Given the description of an element on the screen output the (x, y) to click on. 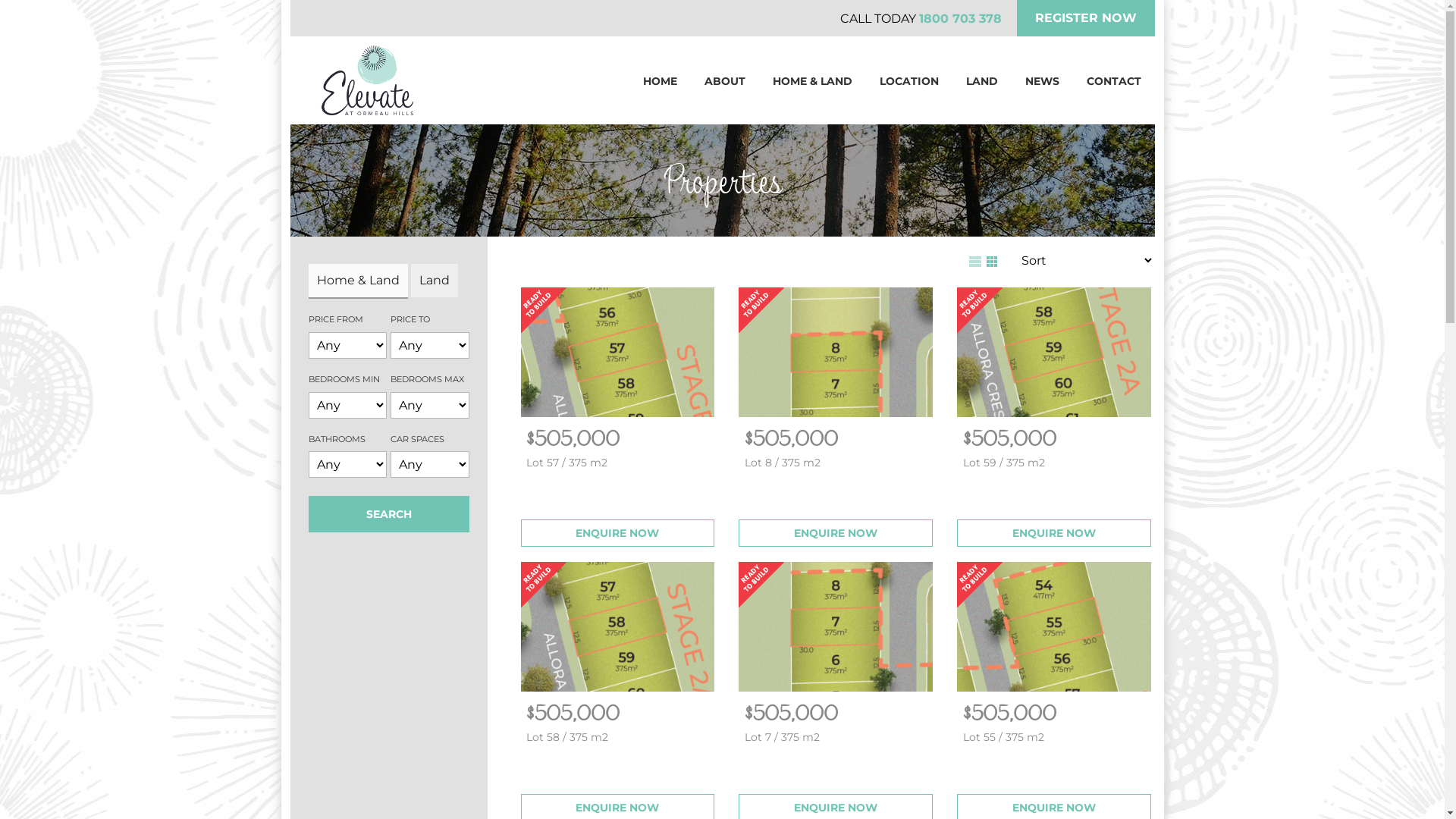
Lot 55 / 375 m2 Element type: text (1054, 741)
ENQUIRE NOW Element type: text (617, 532)
Lot 8 / 375 m2 Element type: text (836, 466)
$505,000 Element type: text (572, 438)
LAND Element type: text (981, 80)
$505,000 Element type: text (790, 712)
$505,000 Element type: text (1009, 438)
HOME Element type: text (659, 80)
REGISTER NOW Element type: text (1085, 18)
NEWS Element type: text (1042, 80)
$505,000 Element type: text (790, 438)
ENQUIRE NOW Element type: text (1054, 532)
1800 703 378 Element type: text (960, 18)
$505,000 Element type: text (1009, 712)
Skip to primary navigation Element type: text (289, 0)
List Element type: hover (974, 259)
$505,000 Element type: text (572, 712)
Search Element type: text (387, 513)
LOCATION Element type: text (909, 80)
Lot 7 / 375 m2 Element type: text (836, 741)
CONTACT Element type: text (1113, 80)
ENQUIRE NOW Element type: text (835, 532)
Lot 58 / 375 m2 Element type: text (617, 741)
Elevate Element type: text (366, 80)
Grid Element type: hover (989, 259)
ABOUT Element type: text (724, 80)
HOME & LAND Element type: text (811, 80)
Lot 57 / 375 m2 Element type: text (617, 466)
Lot 59 / 375 m2 Element type: text (1054, 466)
